Given the description of an element on the screen output the (x, y) to click on. 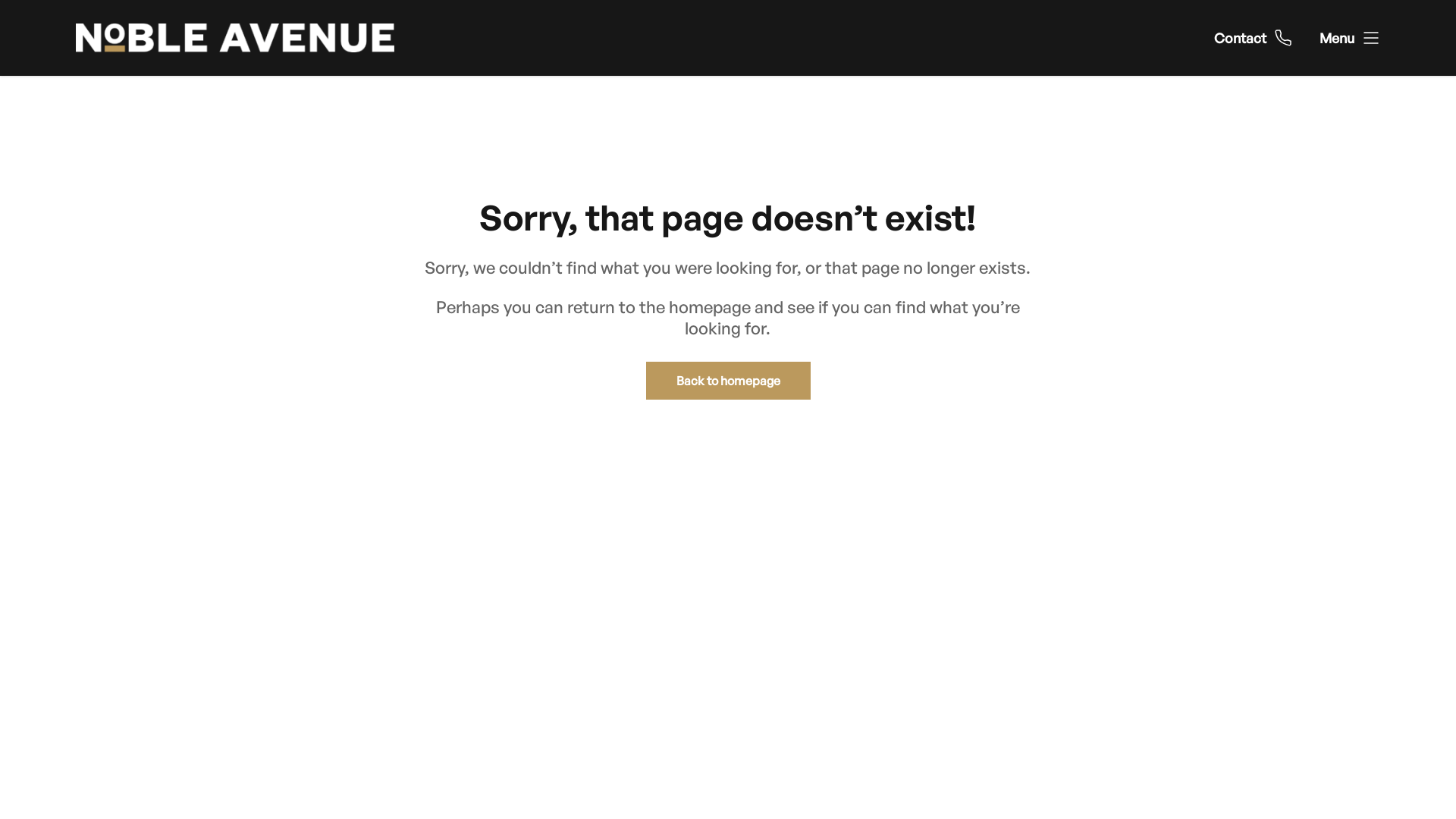
Back to homepage Element type: text (728, 380)
Back to homepage Element type: text (728, 380)
Contact Element type: text (1253, 37)
Menu Element type: text (1349, 37)
